Given the description of an element on the screen output the (x, y) to click on. 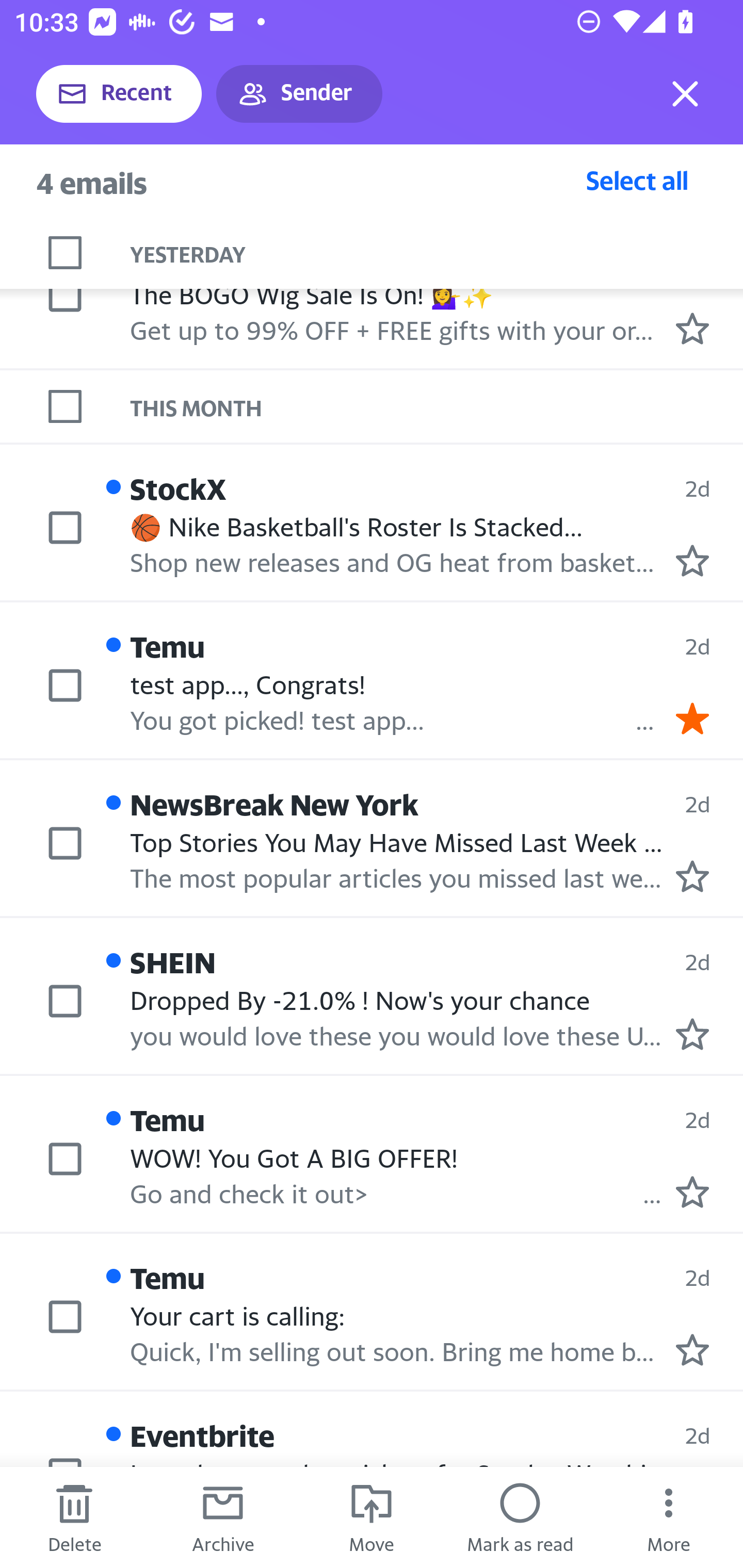
Sender (299, 93)
Exit selection mode (684, 93)
Select all (637, 180)
Mark as starred. (692, 328)
THIS MONTH (436, 406)
Mark as starred. (692, 560)
Remove star. (692, 718)
Mark as starred. (692, 875)
Mark as starred. (692, 1034)
Mark as starred. (692, 1192)
Mark as starred. (692, 1349)
Delete (74, 1517)
Archive (222, 1517)
Move (371, 1517)
Mark as read (519, 1517)
More (668, 1517)
